Given the description of an element on the screen output the (x, y) to click on. 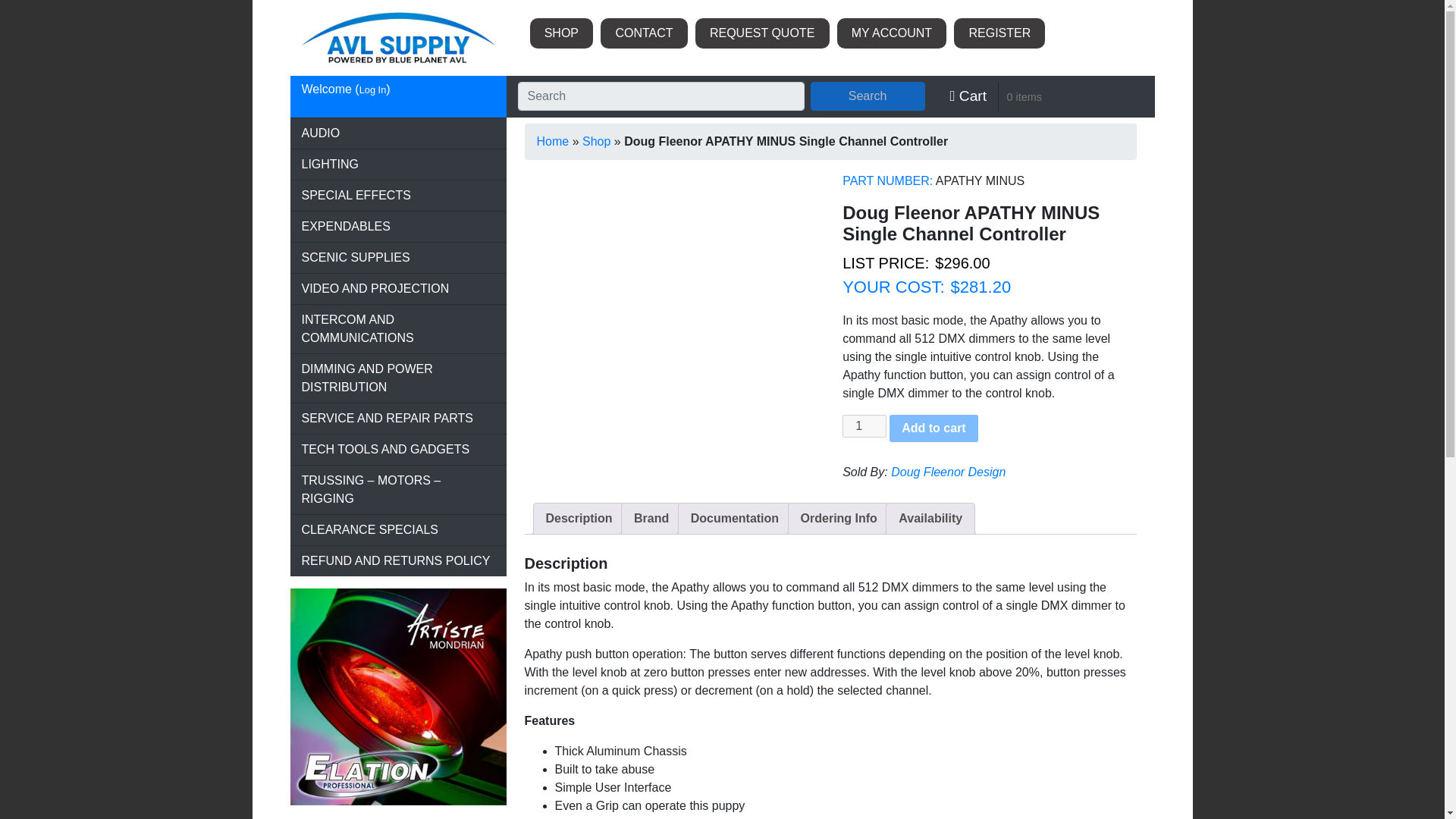
SPECIAL EFFECTS (397, 195)
AUDIO (397, 132)
Shop (596, 141)
Ordering Info (838, 518)
CLEARANCE SPECIALS (397, 530)
Request Quote (762, 33)
VIDEO AND PROJECTION (397, 288)
Cart 0 items (995, 95)
1 (864, 425)
My Account (892, 33)
LIGHTING (397, 164)
Register (999, 33)
SERVICE AND REPAIR PARTS (397, 418)
TECH TOOLS AND GADGETS (397, 449)
DIMMING AND POWER DISTRIBUTION (397, 377)
